Given the description of an element on the screen output the (x, y) to click on. 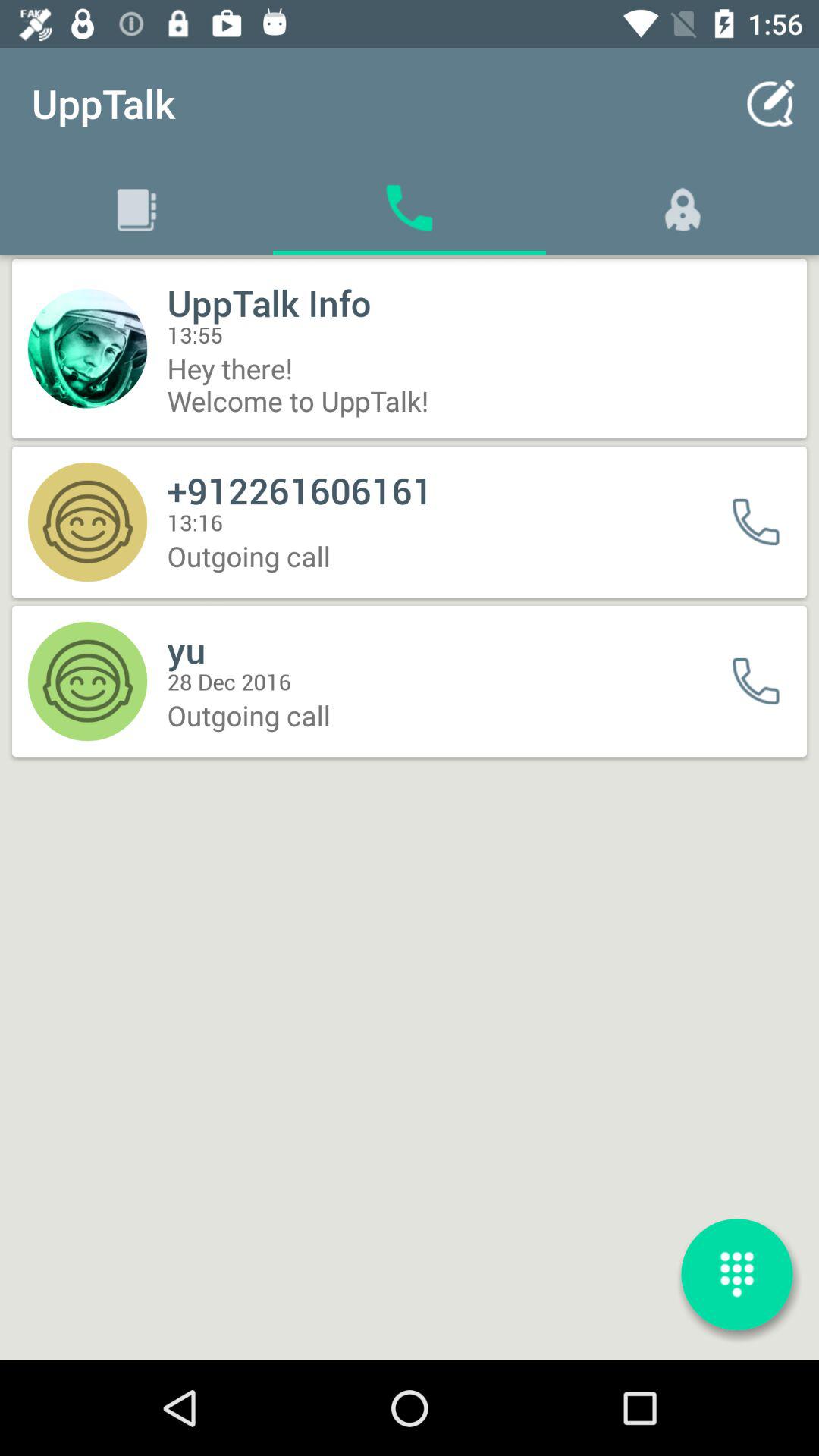
open dial pad (737, 1274)
